Given the description of an element on the screen output the (x, y) to click on. 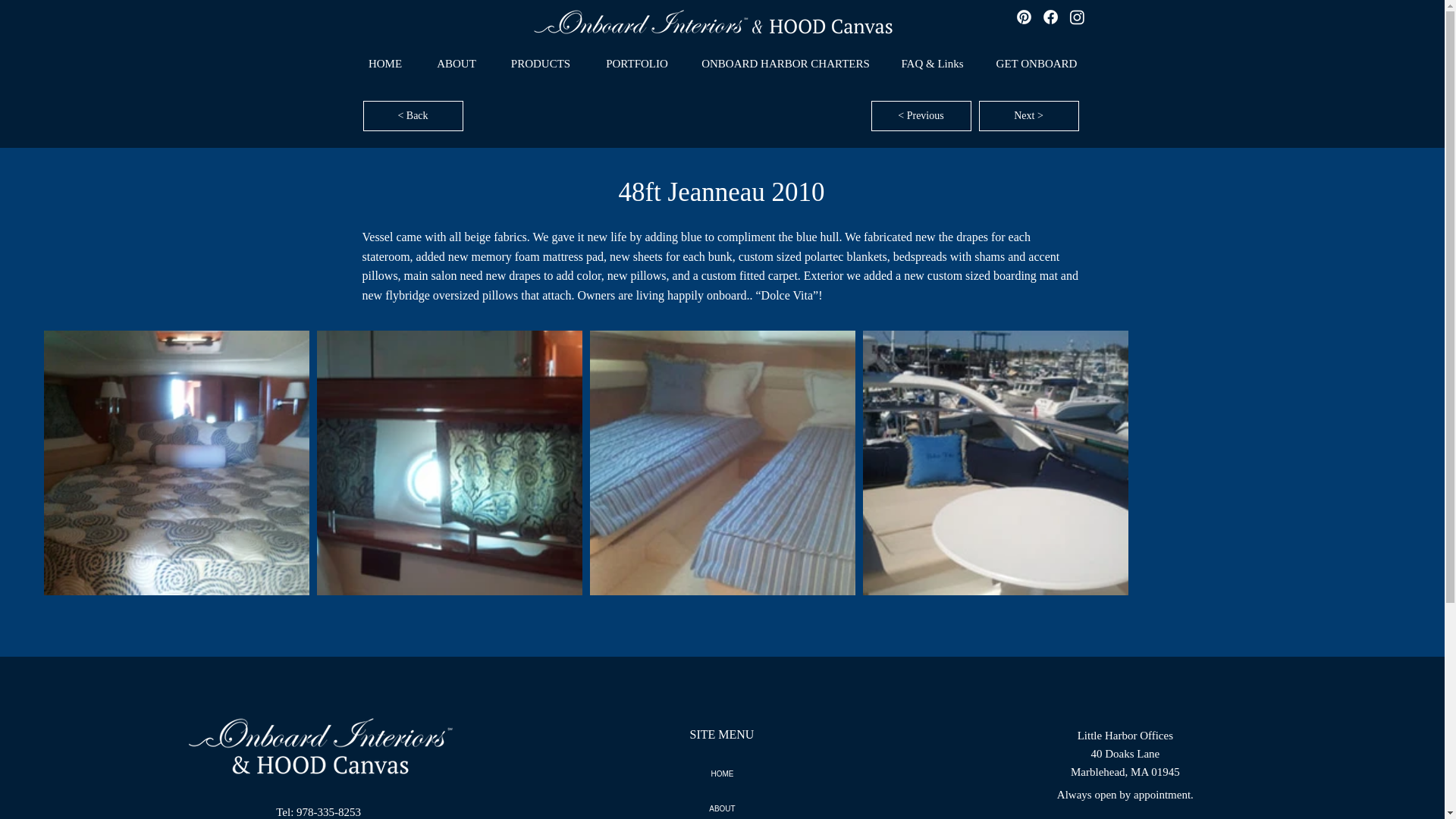
PRODUCTS (540, 63)
HOME (721, 773)
978-335-8253 (329, 811)
PORTFOLIO (636, 63)
HOME (384, 63)
ABOUT (721, 805)
ONBOARD HARBOR CHARTERS (785, 63)
ABOUT (456, 63)
GET ONBOARD (1036, 63)
